Given the description of an element on the screen output the (x, y) to click on. 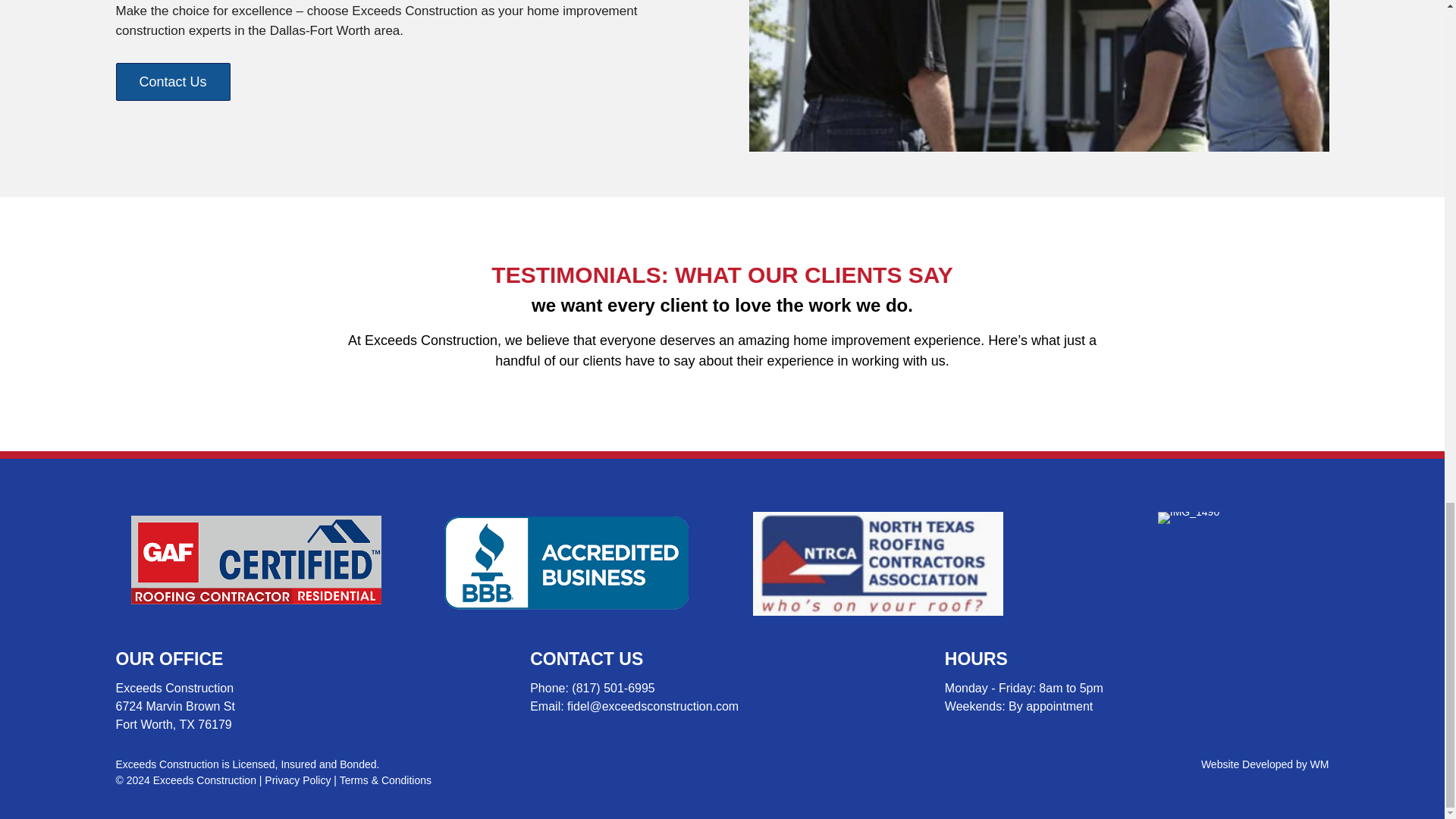
gaf-exceed (255, 559)
bbb (566, 561)
WM (1319, 764)
roofomg-fam (1039, 75)
Privacy Policy (297, 779)
Contact Us (172, 81)
